Given the description of an element on the screen output the (x, y) to click on. 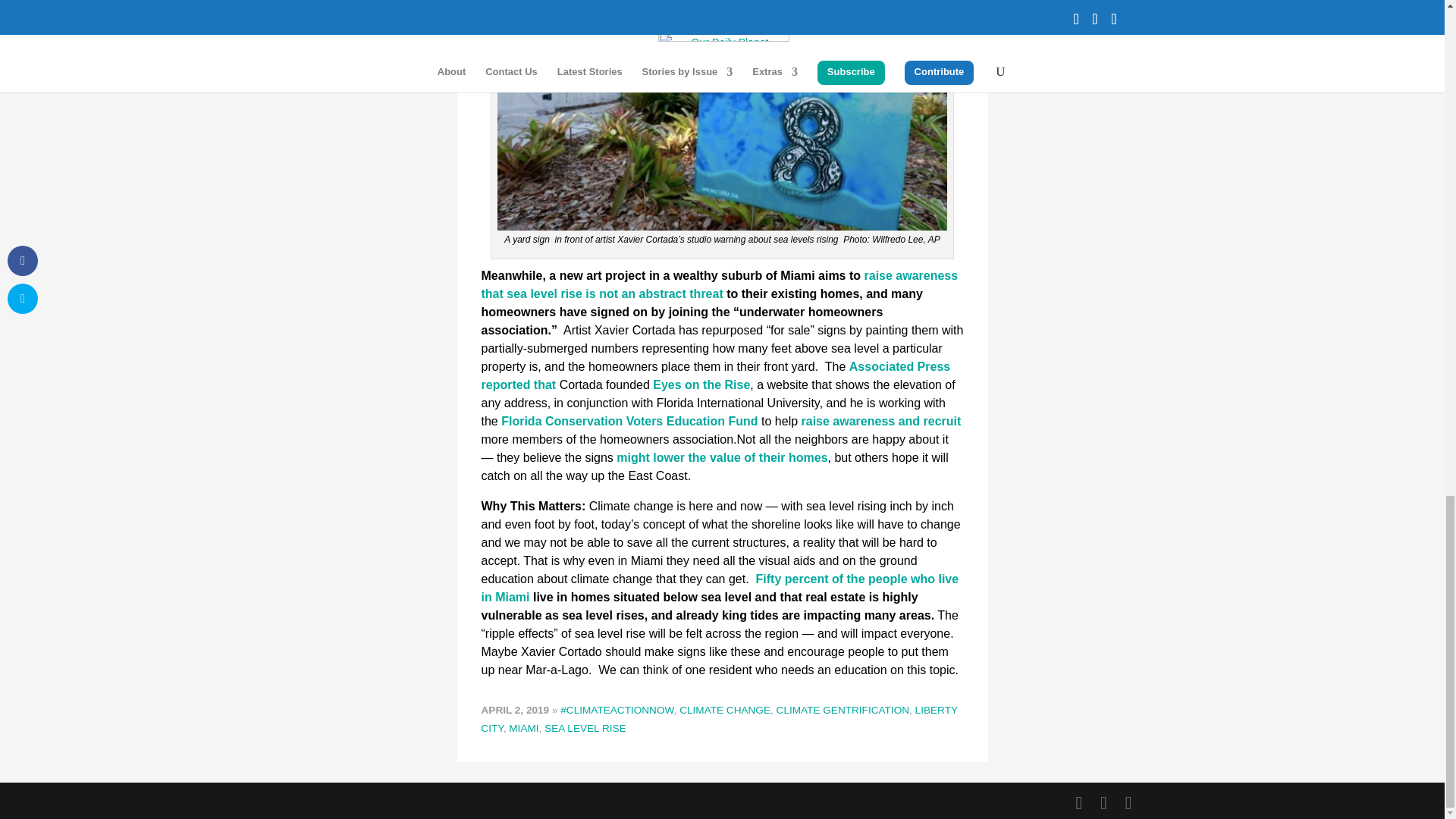
Eyes on the Rise (700, 384)
Associated Press reported that (715, 375)
Florida Conservation Voters Education Fund (628, 420)
